Given the description of an element on the screen output the (x, y) to click on. 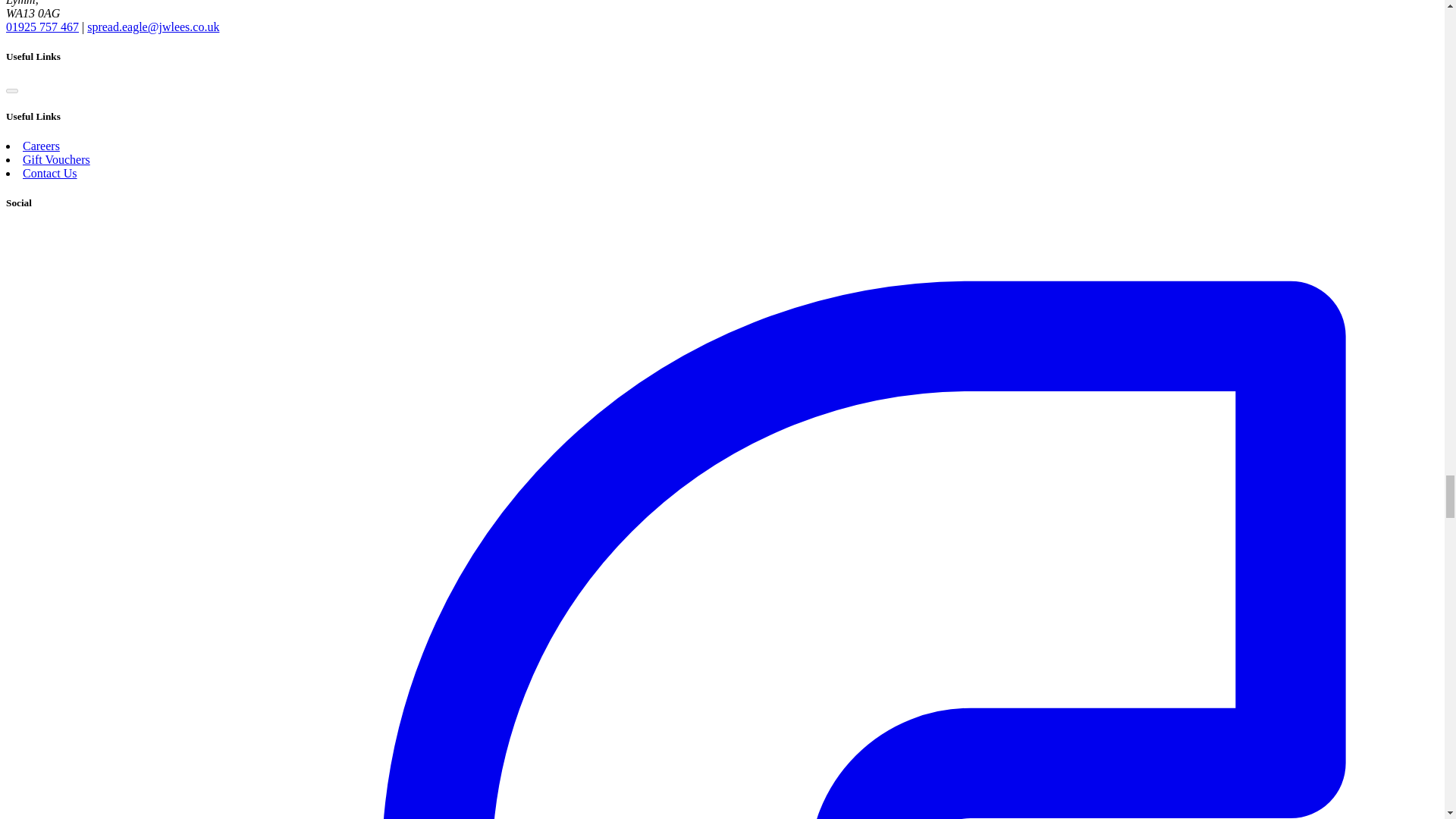
Careers (41, 145)
Contact Us (50, 173)
Gift Vouchers (56, 159)
01925 757 467 (41, 26)
